Given the description of an element on the screen output the (x, y) to click on. 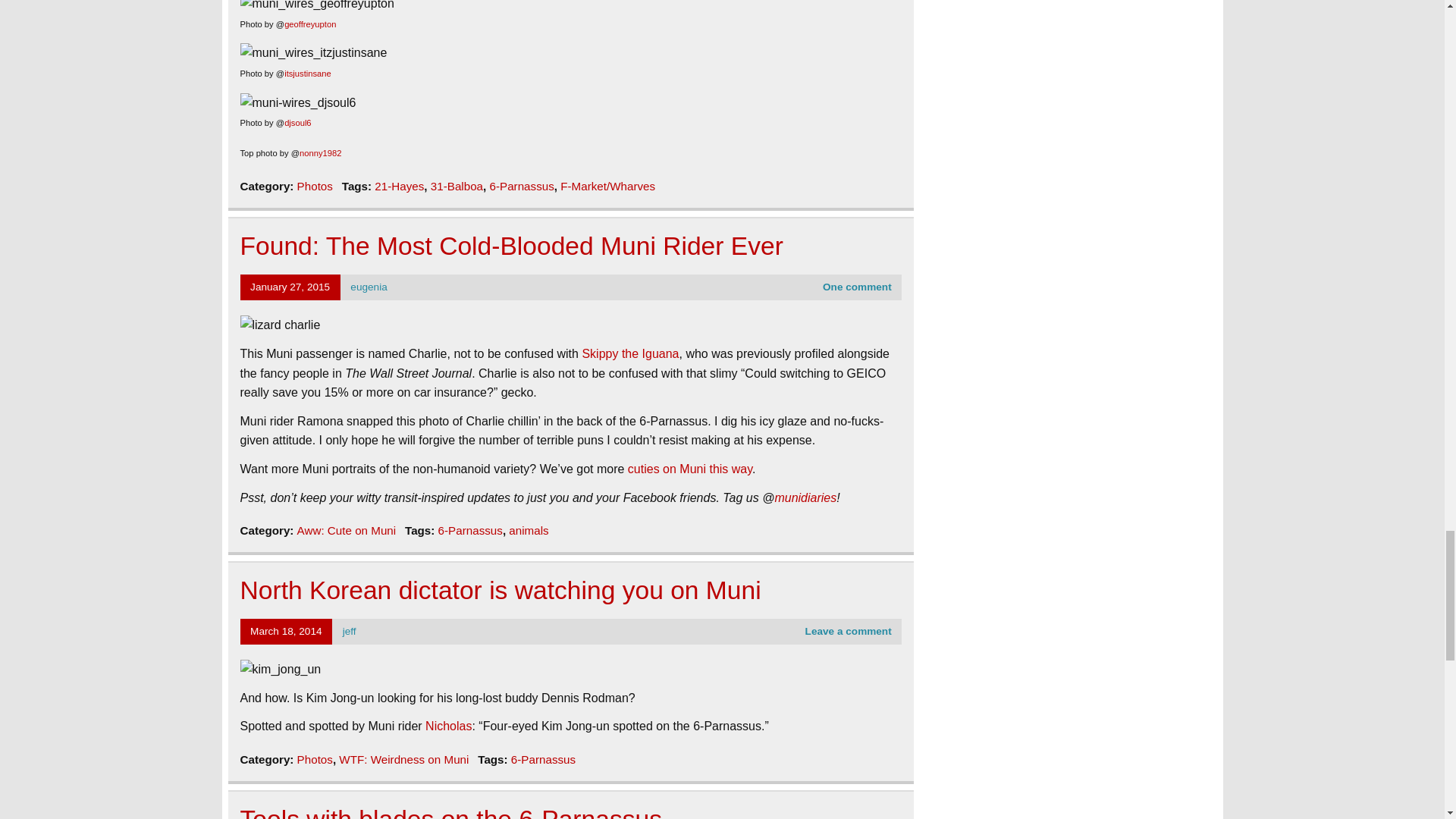
8:31 am (290, 286)
View all posts by eugenia (368, 286)
7:49 am (285, 631)
View all posts by jeff (349, 631)
